Given the description of an element on the screen output the (x, y) to click on. 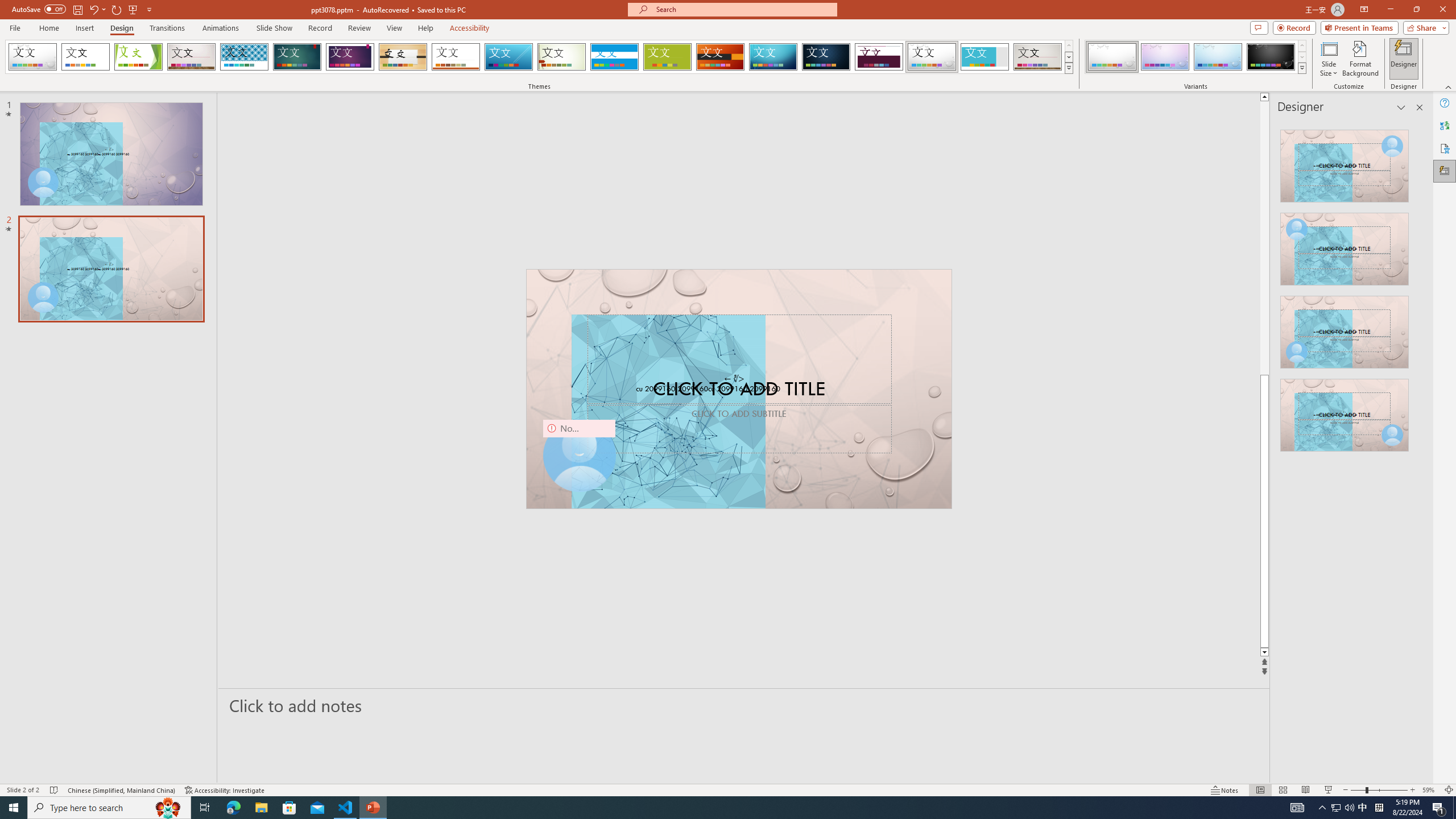
An abstract genetic concept (739, 388)
Office Theme (85, 56)
Integral (244, 56)
